Given the description of an element on the screen output the (x, y) to click on. 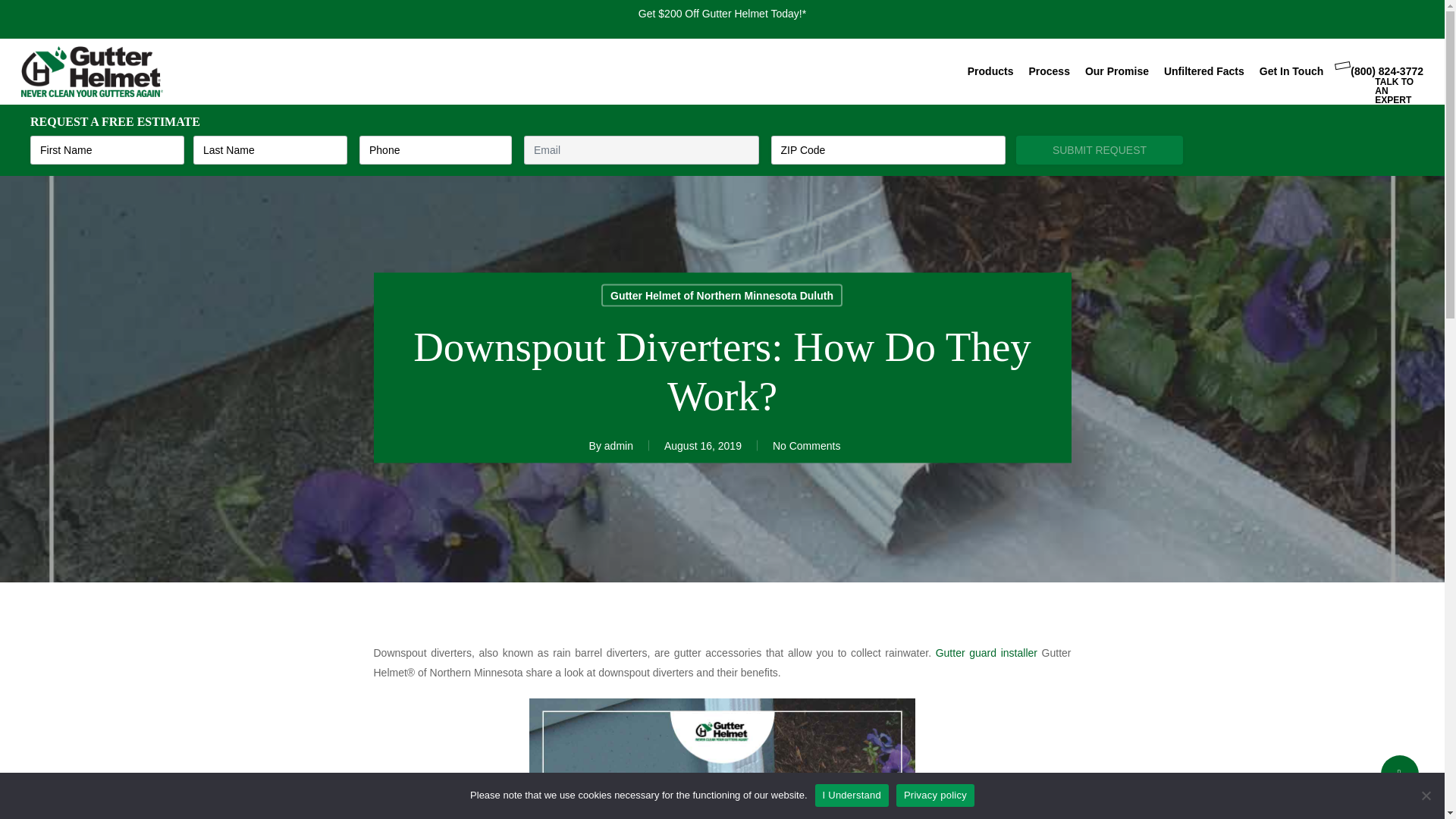
No (1425, 795)
Posts by admin (618, 444)
SUBMIT REQUEST (1099, 149)
Products (990, 70)
Gutter Helmet of Northern Minnesota Duluth (722, 294)
Our Promise (1116, 70)
Unfiltered Facts (1203, 70)
Process (1047, 70)
Gutter guard installer (986, 653)
admin (618, 444)
SUBMIT REQUEST (1099, 149)
Get In Touch (1291, 70)
No Comments (806, 444)
